Given the description of an element on the screen output the (x, y) to click on. 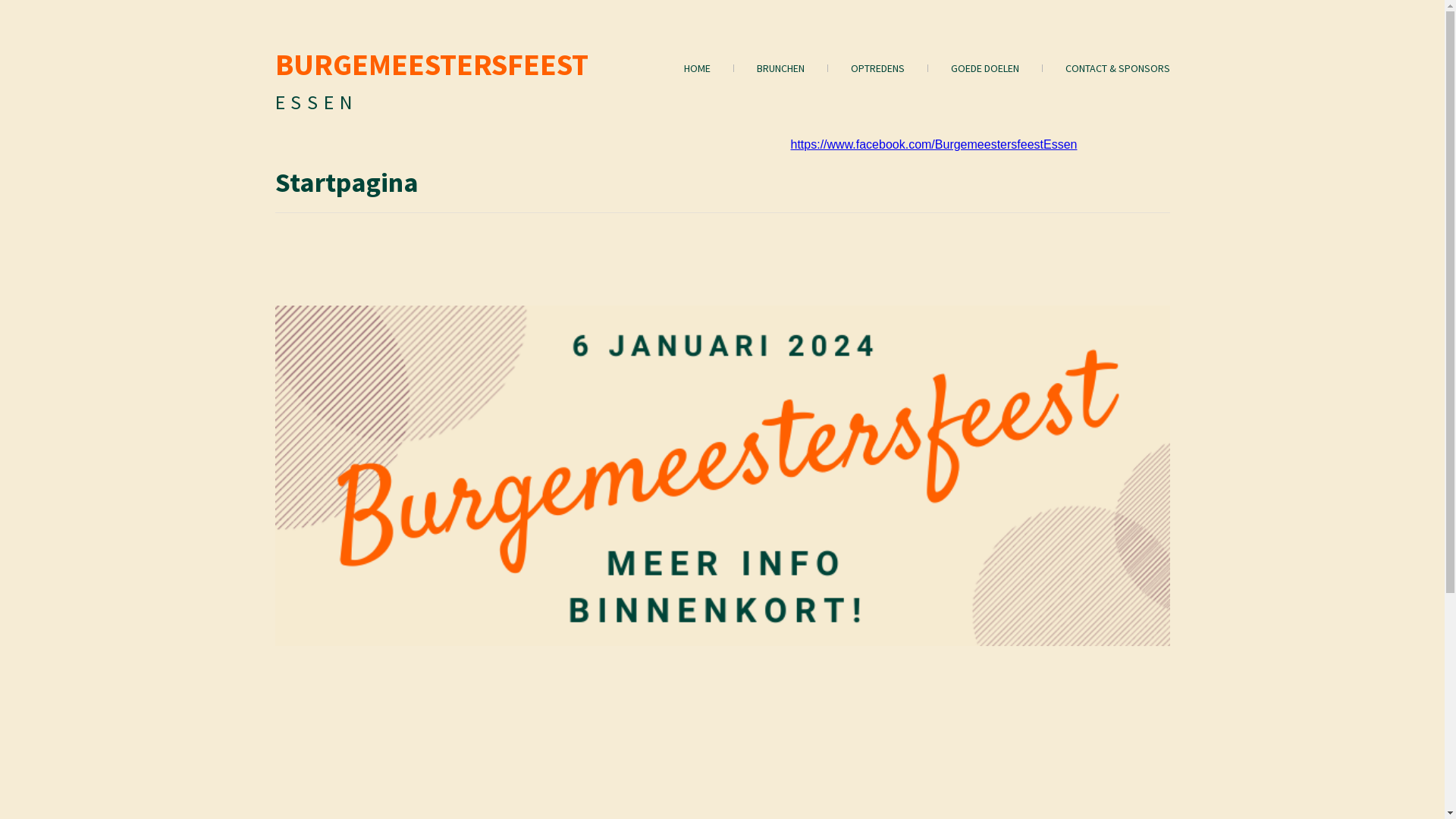
BRUNCHEN Element type: text (769, 67)
https://www.facebook.com/BurgemeestersfeestEssen Element type: text (933, 144)
GOEDE DOELEN Element type: text (973, 67)
BURGEMEESTERSFEEST Element type: text (430, 64)
CONTACT & SPONSORS Element type: text (1105, 67)
HOME Element type: text (685, 67)
OPTREDENS Element type: text (866, 67)
